Given the description of an element on the screen output the (x, y) to click on. 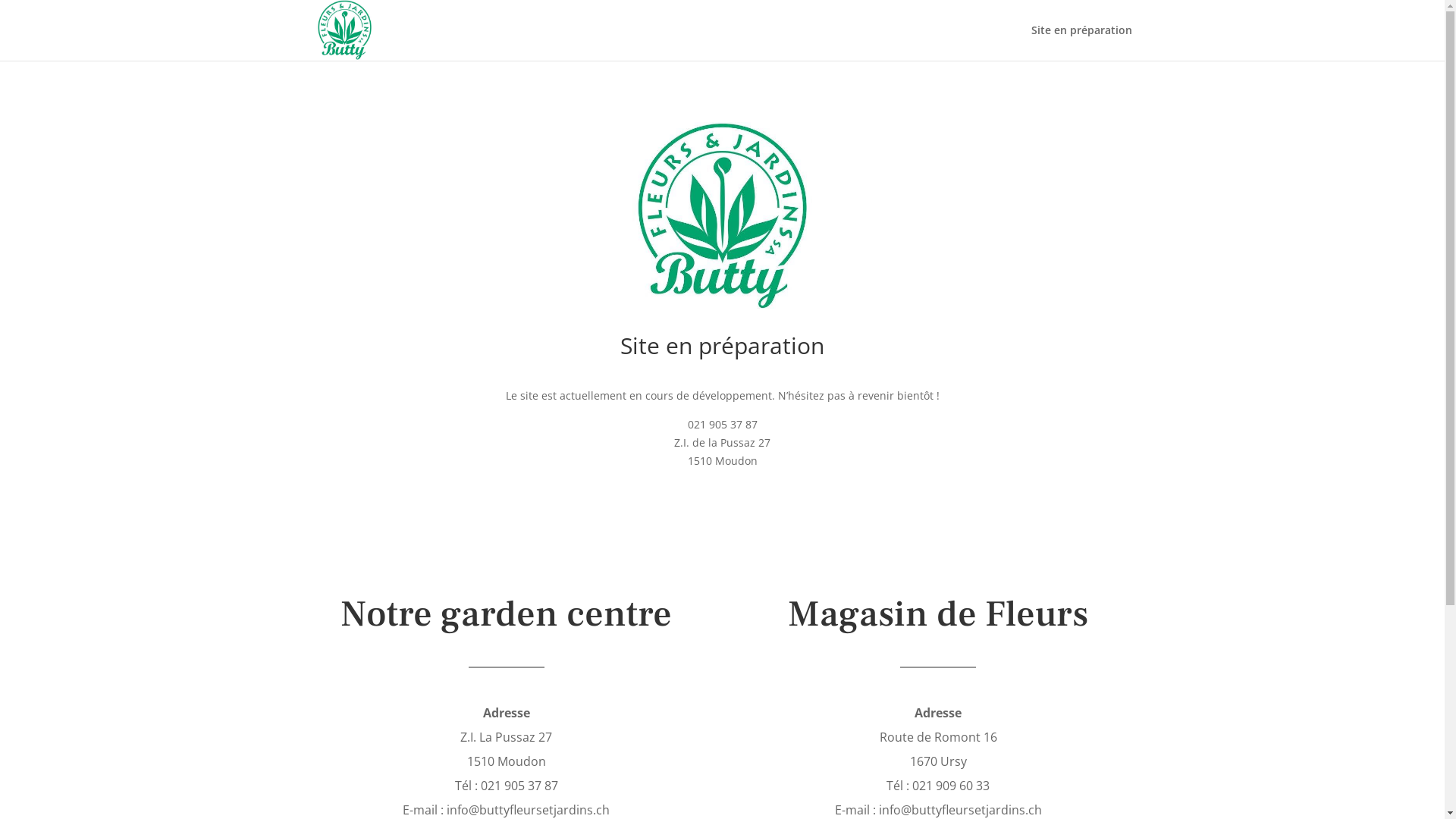
Accueil_Buttyfleurs Element type: hover (722, 216)
